Given the description of an element on the screen output the (x, y) to click on. 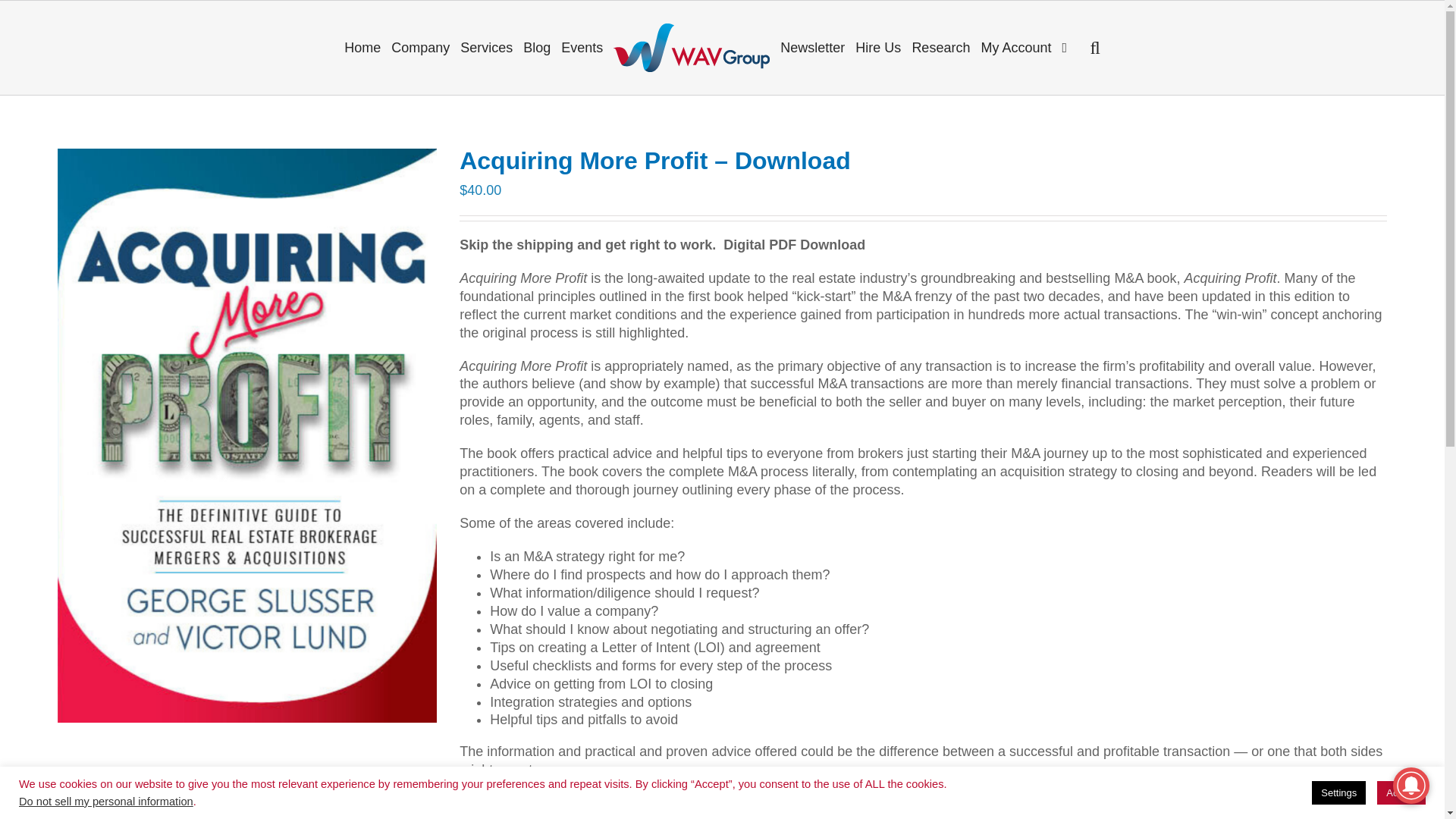
Research (940, 47)
Hire Us (877, 47)
Home (362, 47)
Newsletter (812, 47)
Log In (1069, 181)
My Account (1016, 47)
Services (486, 47)
Events (582, 47)
Company (419, 47)
